Given the description of an element on the screen output the (x, y) to click on. 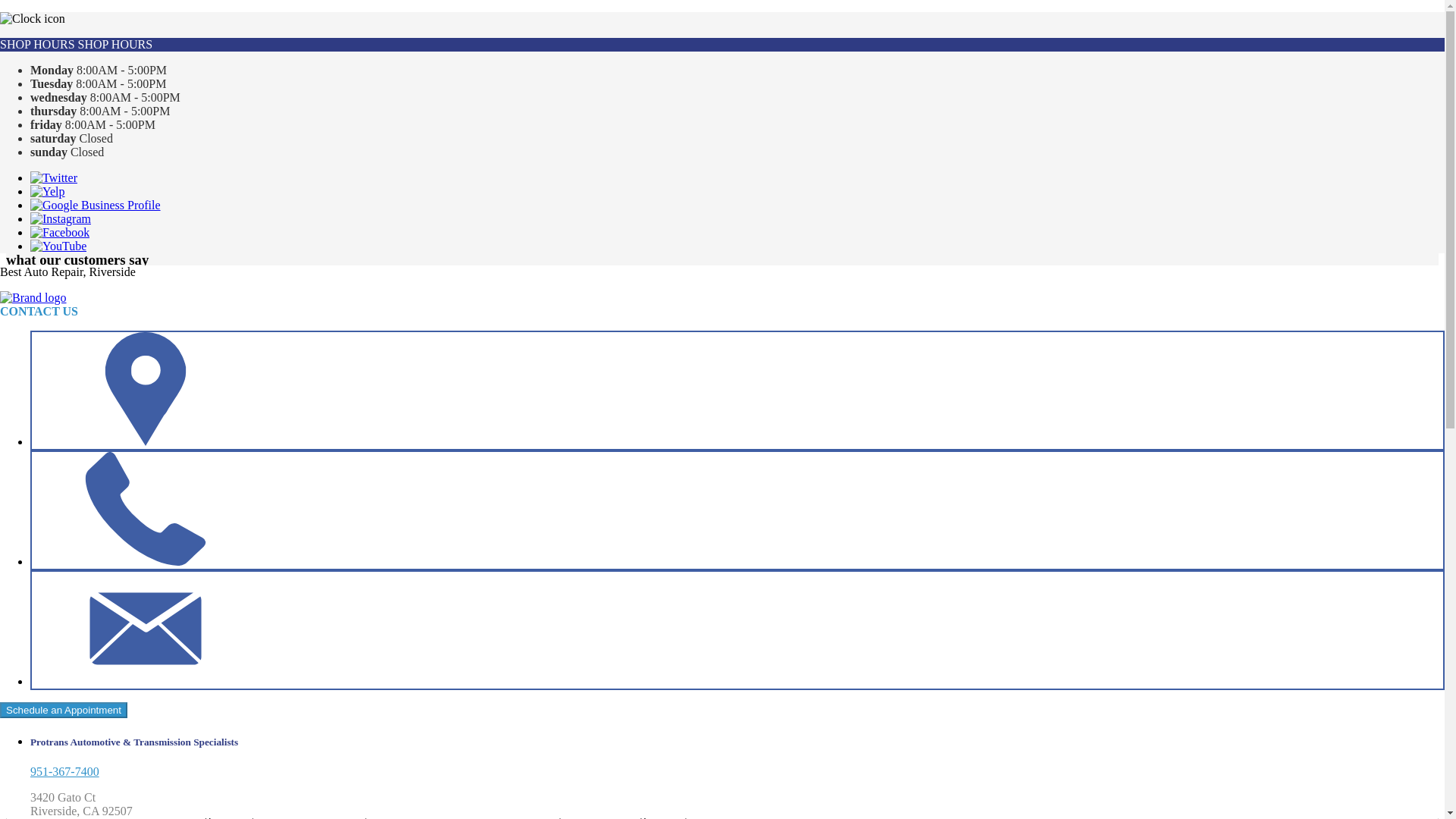
Schedule an Appointment (64, 709)
951-367-7400 (64, 771)
